Given the description of an element on the screen output the (x, y) to click on. 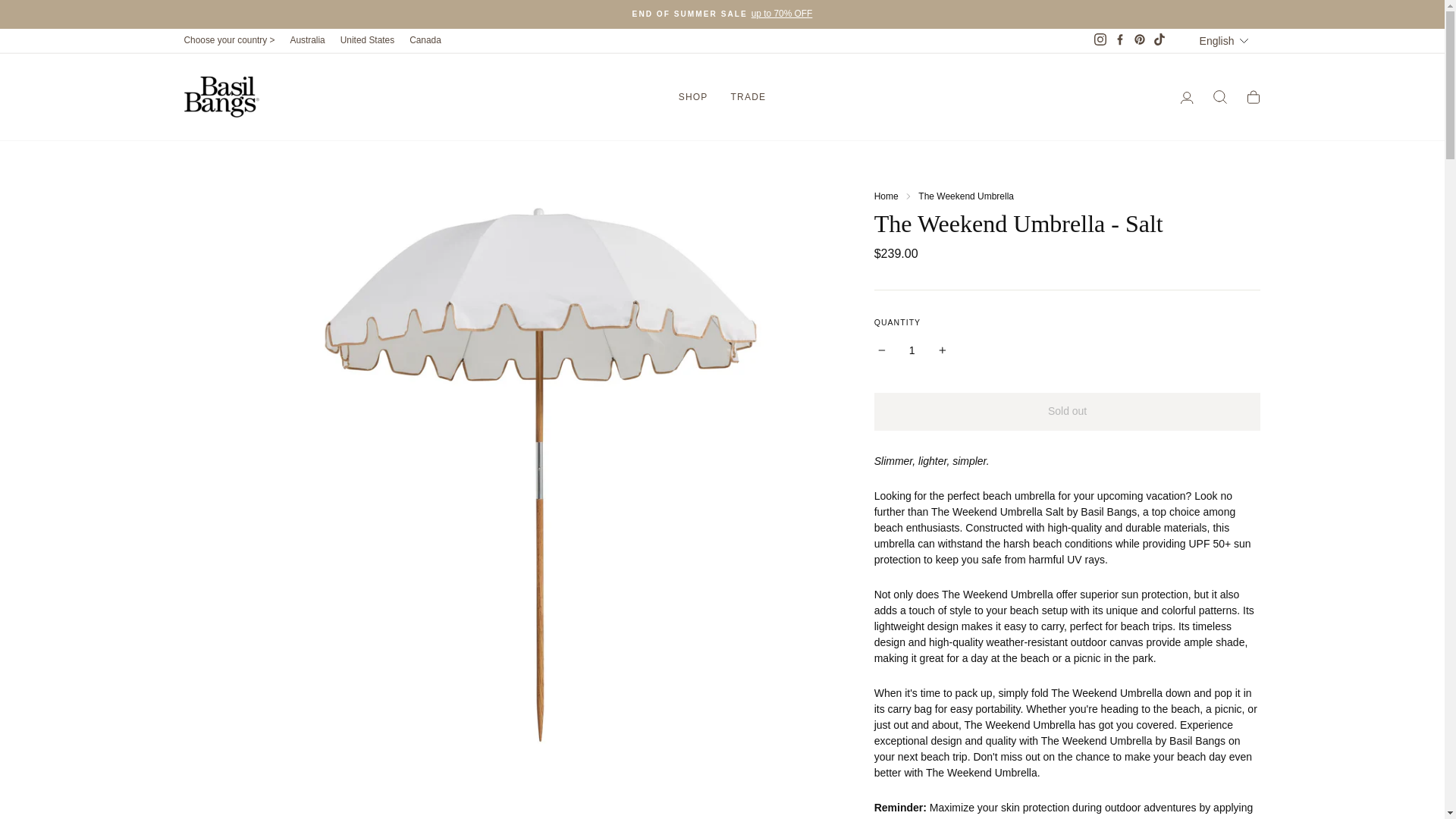
Back to the frontpage (886, 195)
1 (912, 350)
